Given the description of an element on the screen output the (x, y) to click on. 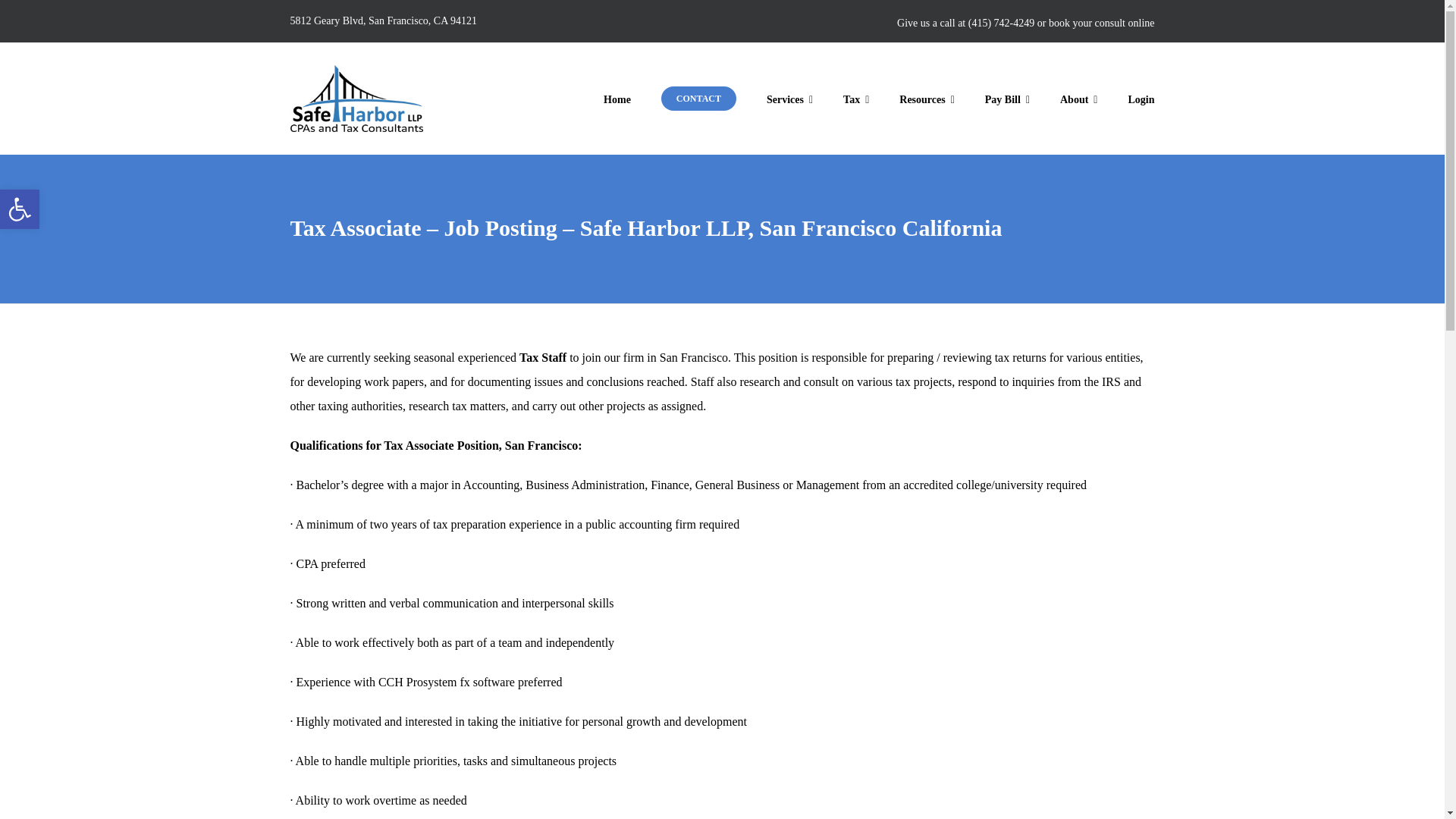
Accessibility Tools (19, 209)
CONTACT (698, 97)
Services (789, 97)
Resources (927, 97)
Services (789, 97)
Book a Consult (698, 97)
Accessibility Tools (19, 209)
Call Safe Harbor CPA (1001, 22)
Pay Bill (19, 209)
